Given the description of an element on the screen output the (x, y) to click on. 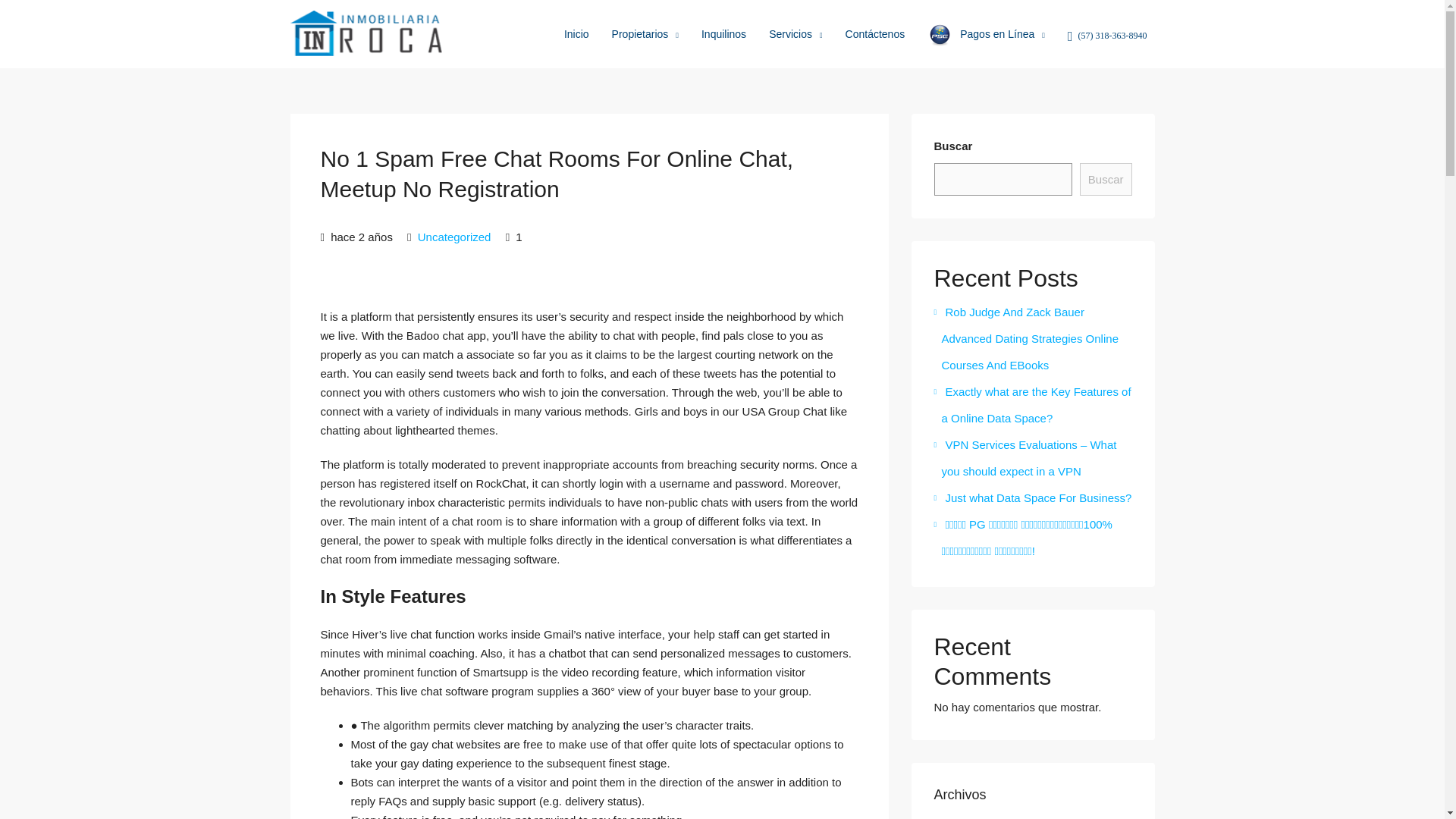
Propietarios (644, 34)
Inquilinos (723, 33)
Servicios (794, 34)
Uncategorized (454, 236)
